Given the description of an element on the screen output the (x, y) to click on. 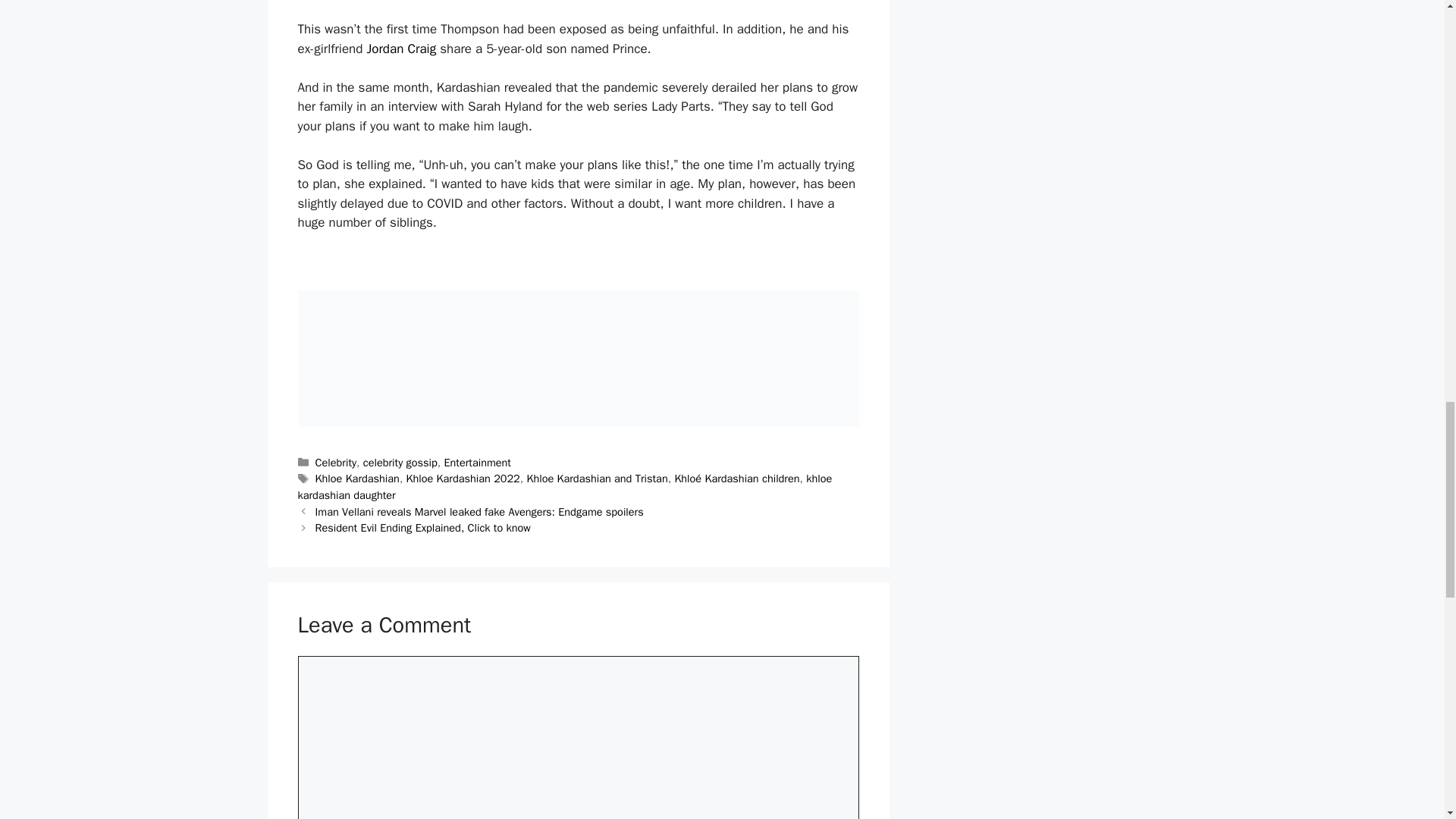
Resident Evil Ending Explained, Click to know (423, 527)
Khloe Kardashian (356, 478)
Entertainment (477, 462)
celebrity gossip (400, 462)
Khloe Kardashian 2022 (462, 478)
khloe kardashian daughter (564, 486)
Khloe Kardashian and Tristan (595, 478)
Celebrity (335, 462)
Jordan Craig (400, 48)
